Given the description of an element on the screen output the (x, y) to click on. 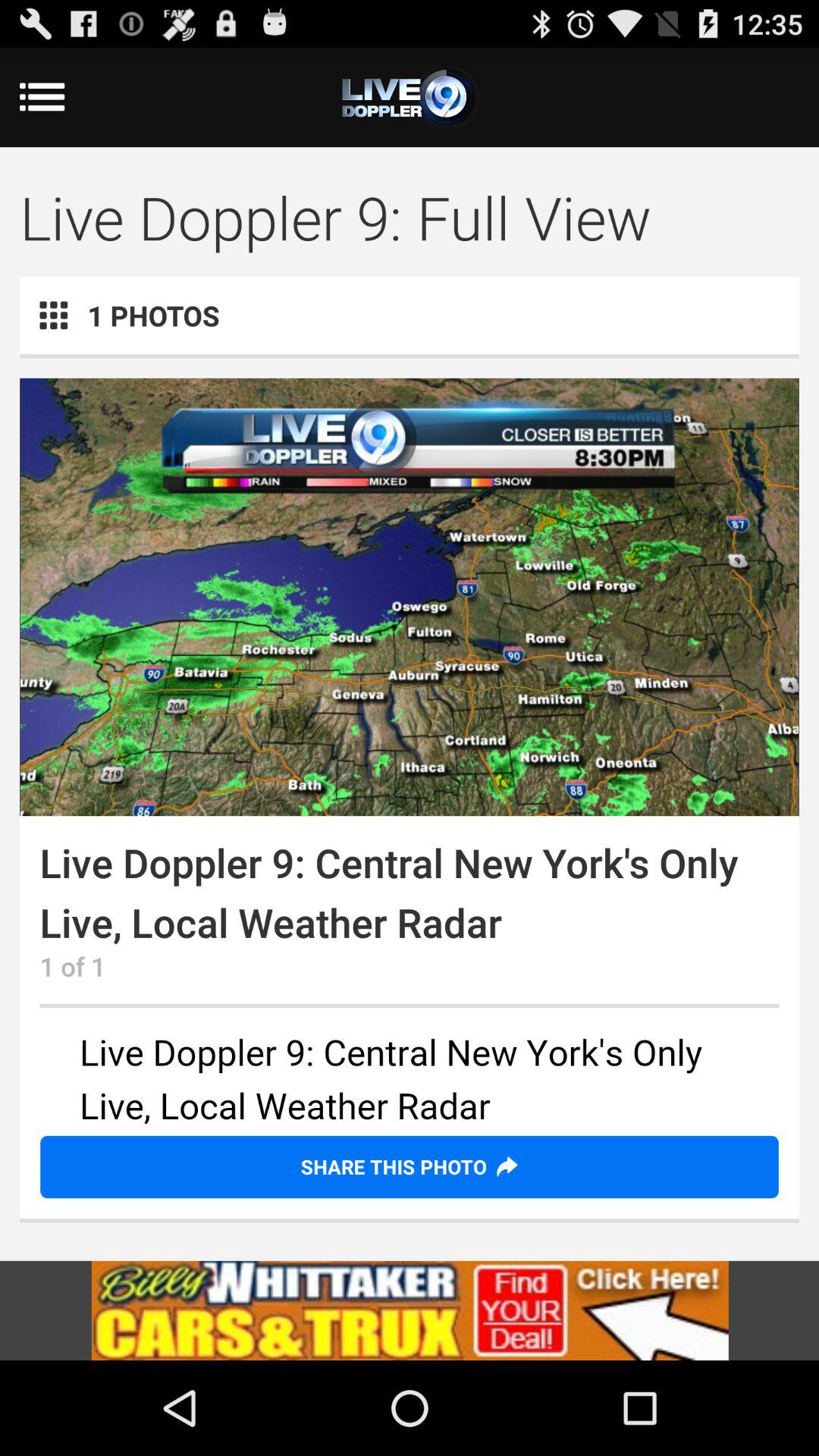
menu page (409, 97)
